Given the description of an element on the screen output the (x, y) to click on. 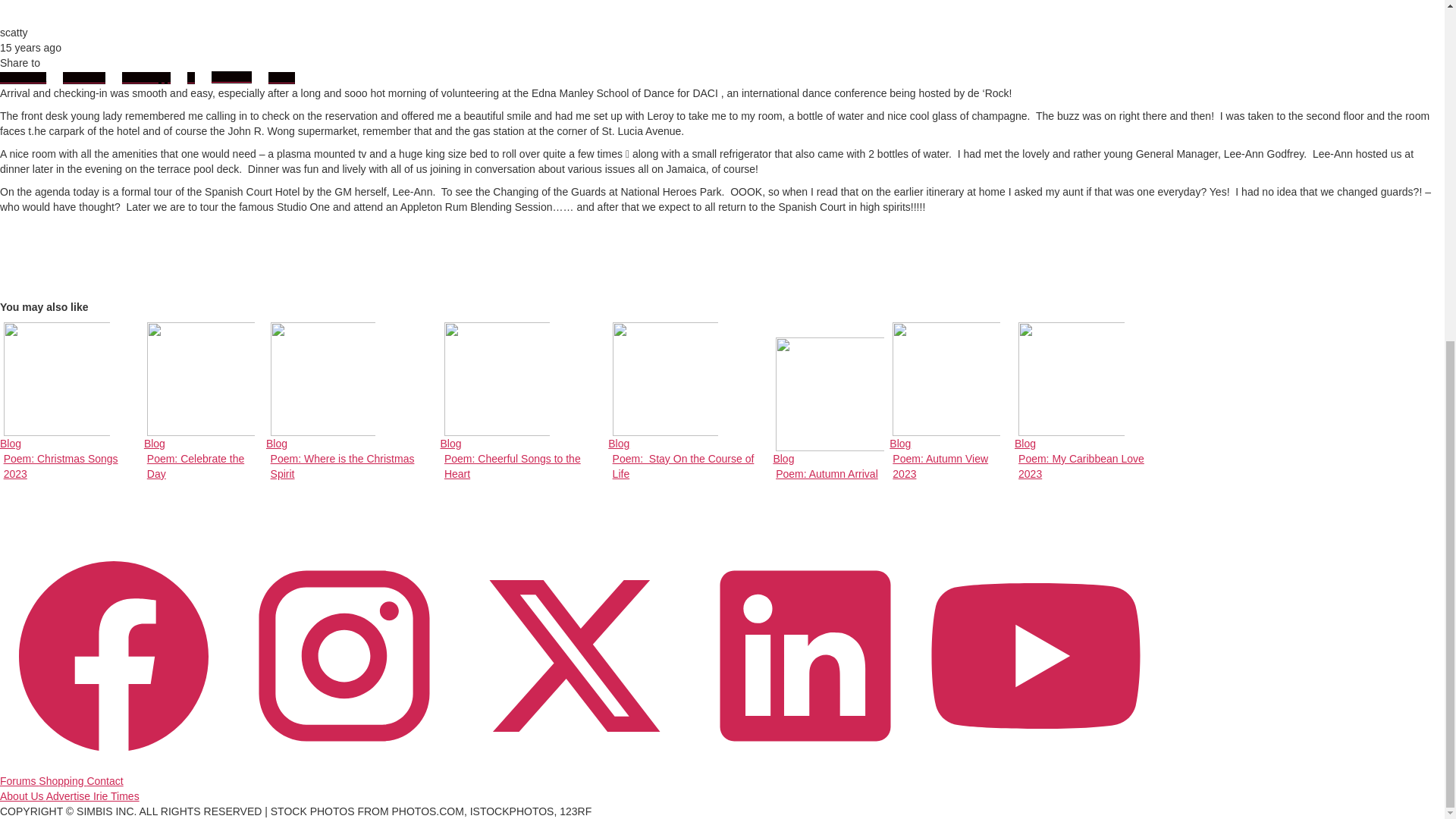
Facebook (352, 401)
Email (203, 401)
WhatsApp (23, 78)
LinkedIn (281, 78)
X (70, 401)
Pinterest (146, 78)
